Given the description of an element on the screen output the (x, y) to click on. 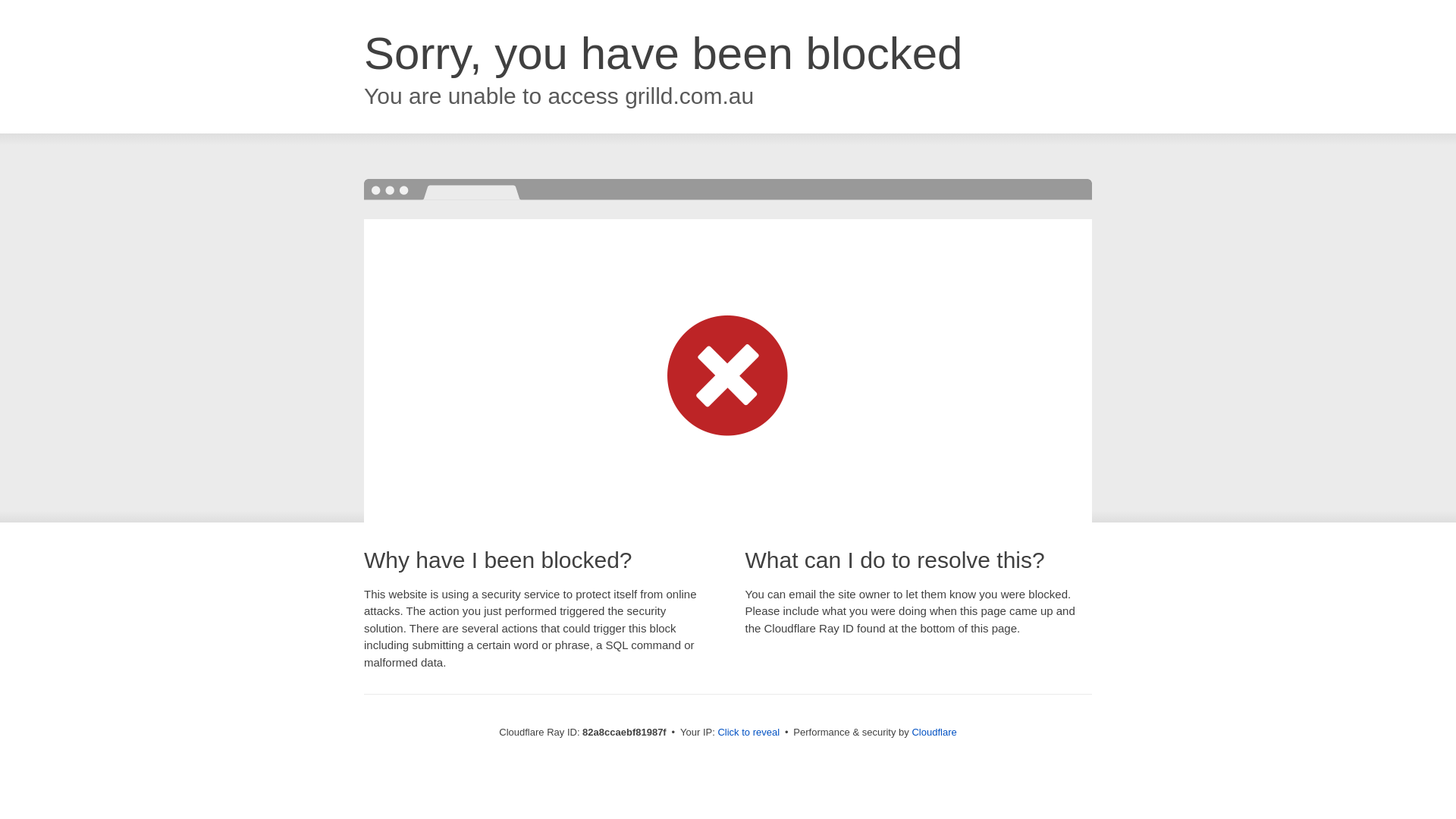
Cloudflare Element type: text (933, 731)
Click to reveal Element type: text (748, 732)
